Given the description of an element on the screen output the (x, y) to click on. 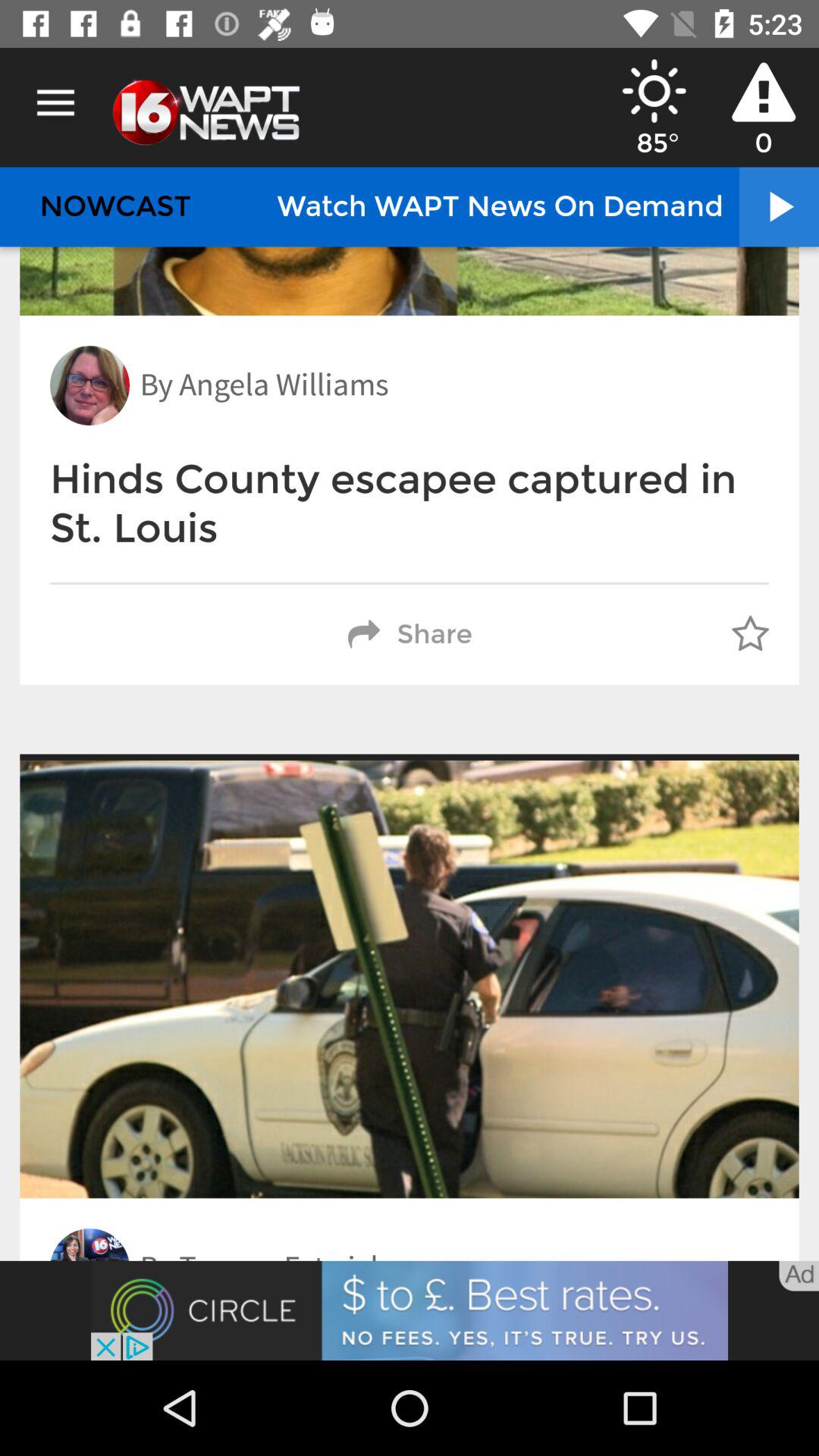
screen page (409, 1310)
